Given the description of an element on the screen output the (x, y) to click on. 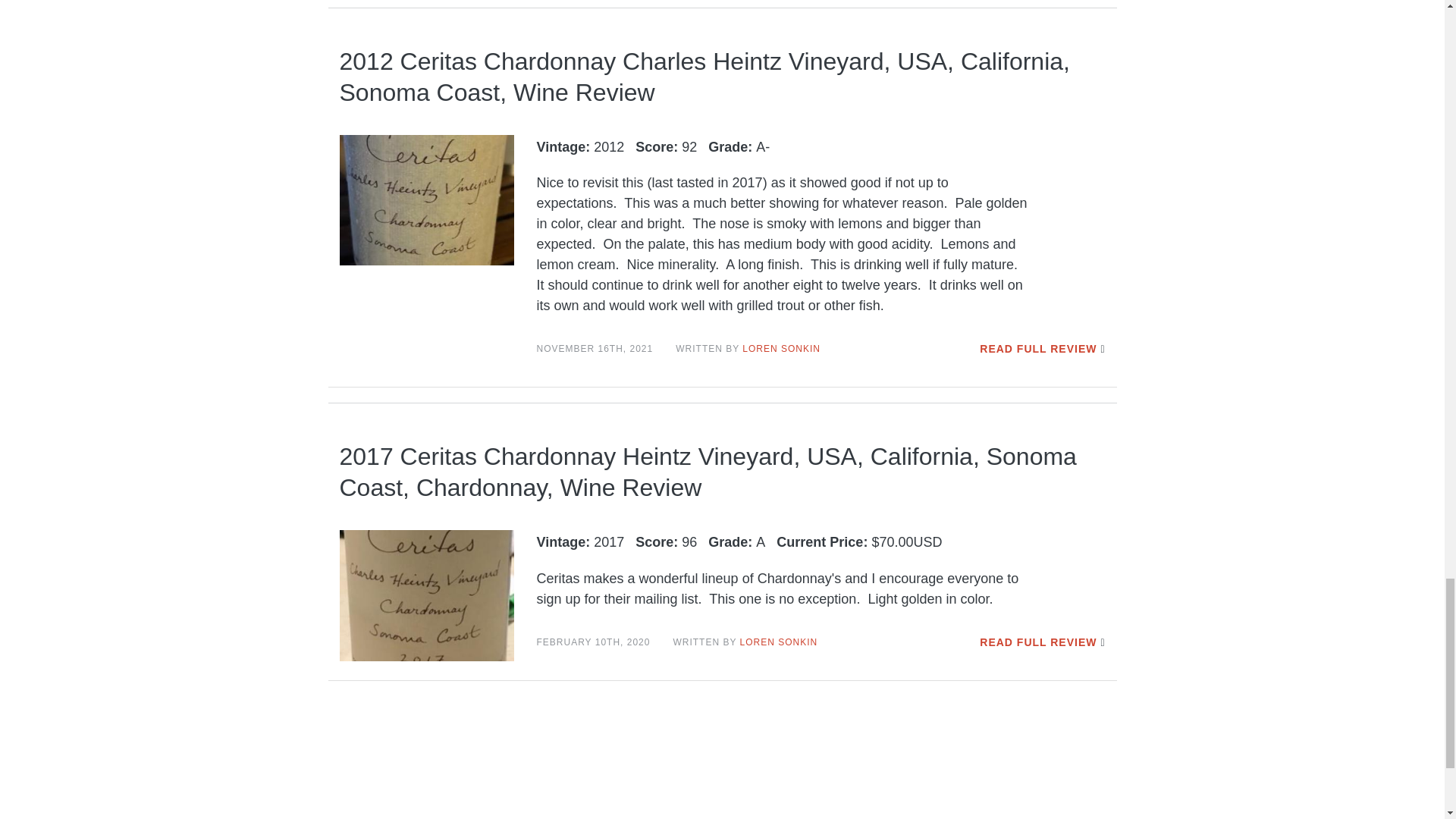
READ FULL REVIEW (1037, 642)
READ FULL REVIEW (1037, 348)
View user profile. (778, 642)
LOREN SONKIN (778, 642)
LOREN SONKIN (781, 348)
View user profile. (781, 348)
